Given the description of an element on the screen output the (x, y) to click on. 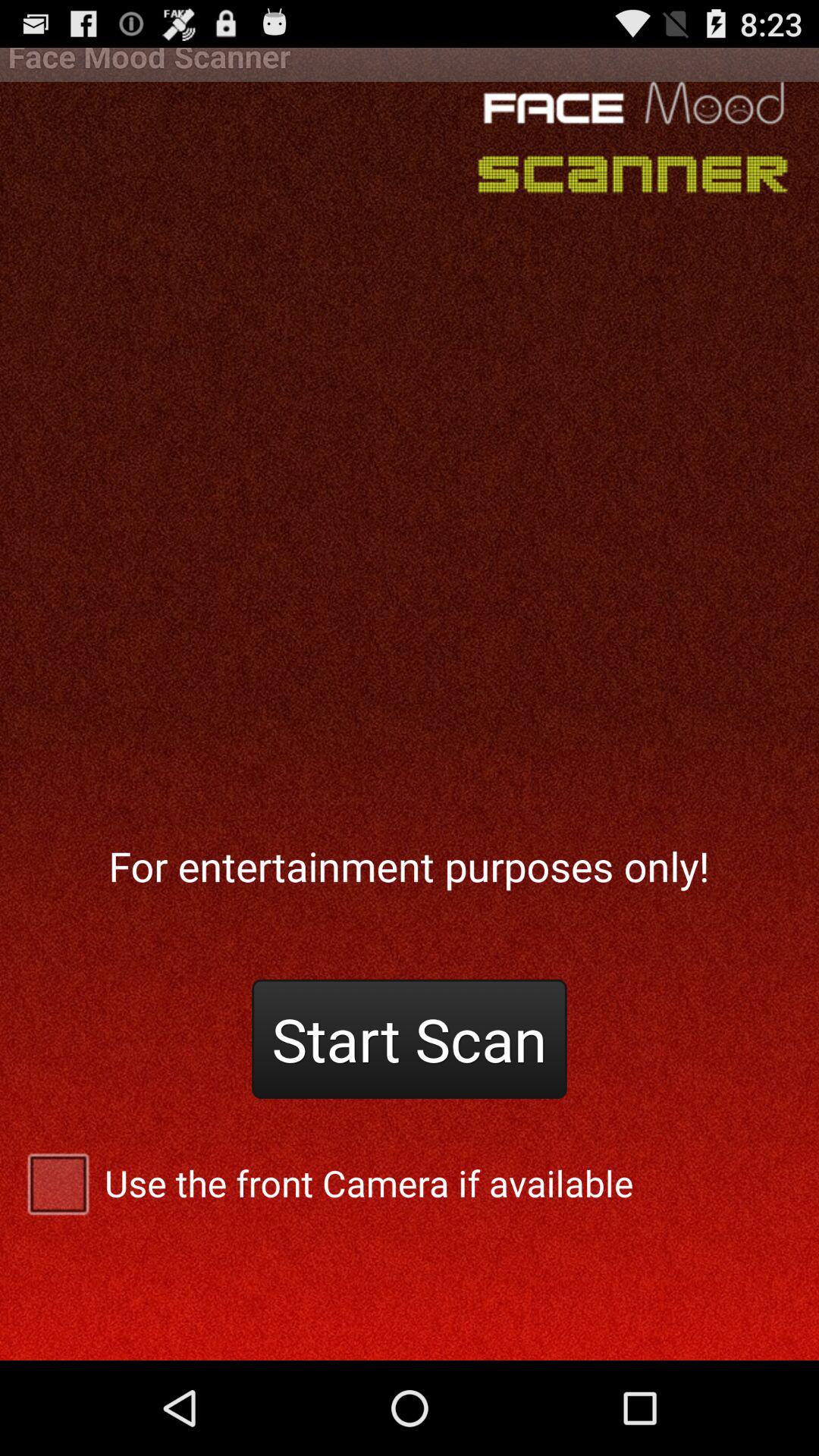
scroll to the start scan item (409, 1038)
